Given the description of an element on the screen output the (x, y) to click on. 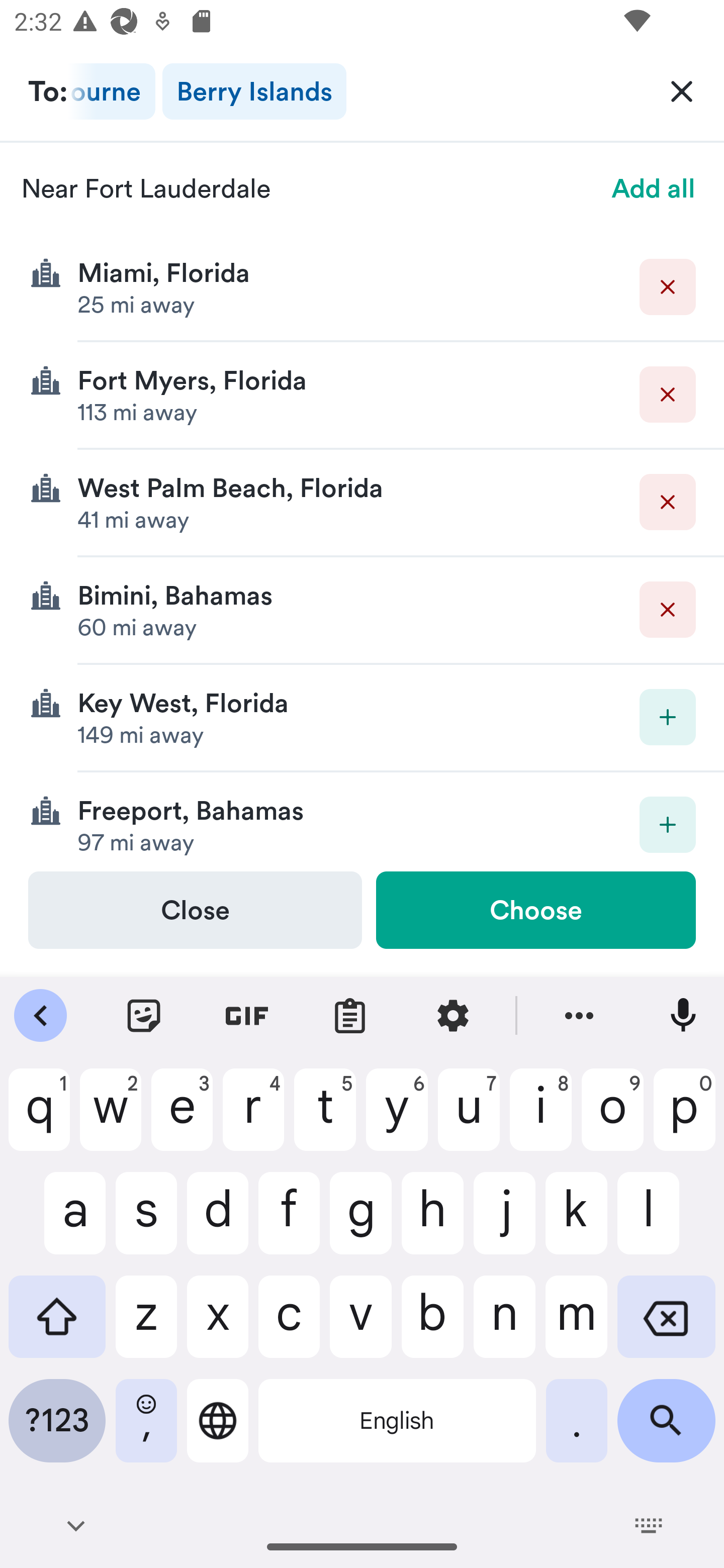
Clear All (681, 90)
Melbourne (111, 91)
Berry Islands (254, 91)
Add all (653, 187)
Delete Miami, Florida 25 mi away (362, 287)
Delete (667, 286)
Delete Fort Myers, Florida 113 mi away (362, 395)
Delete (667, 394)
Delete West Palm Beach, Florida 41 mi away (362, 503)
Delete (667, 501)
Delete Bimini, Bahamas 60 mi away (362, 610)
Delete (667, 609)
Add destination Key West, Florida 149 mi away (362, 717)
Add destination (667, 716)
Add destination Freeport, Bahamas 97 mi away (362, 821)
Add destination (667, 824)
Close (195, 909)
Choose (535, 909)
